Given the description of an element on the screen output the (x, y) to click on. 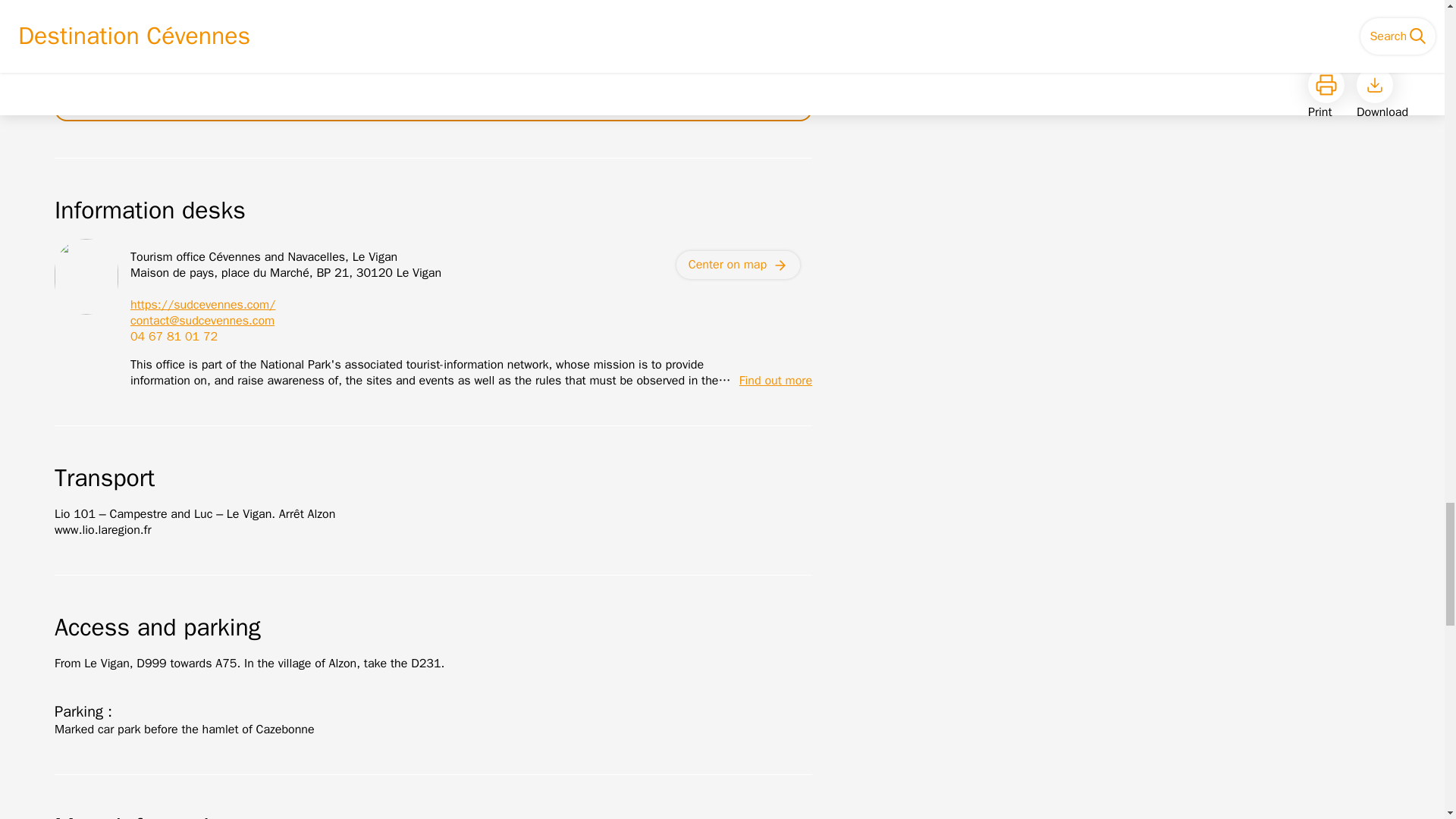
More information (433, 796)
Center on map (738, 264)
04 67 81 01 72 (173, 336)
